Given the description of an element on the screen output the (x, y) to click on. 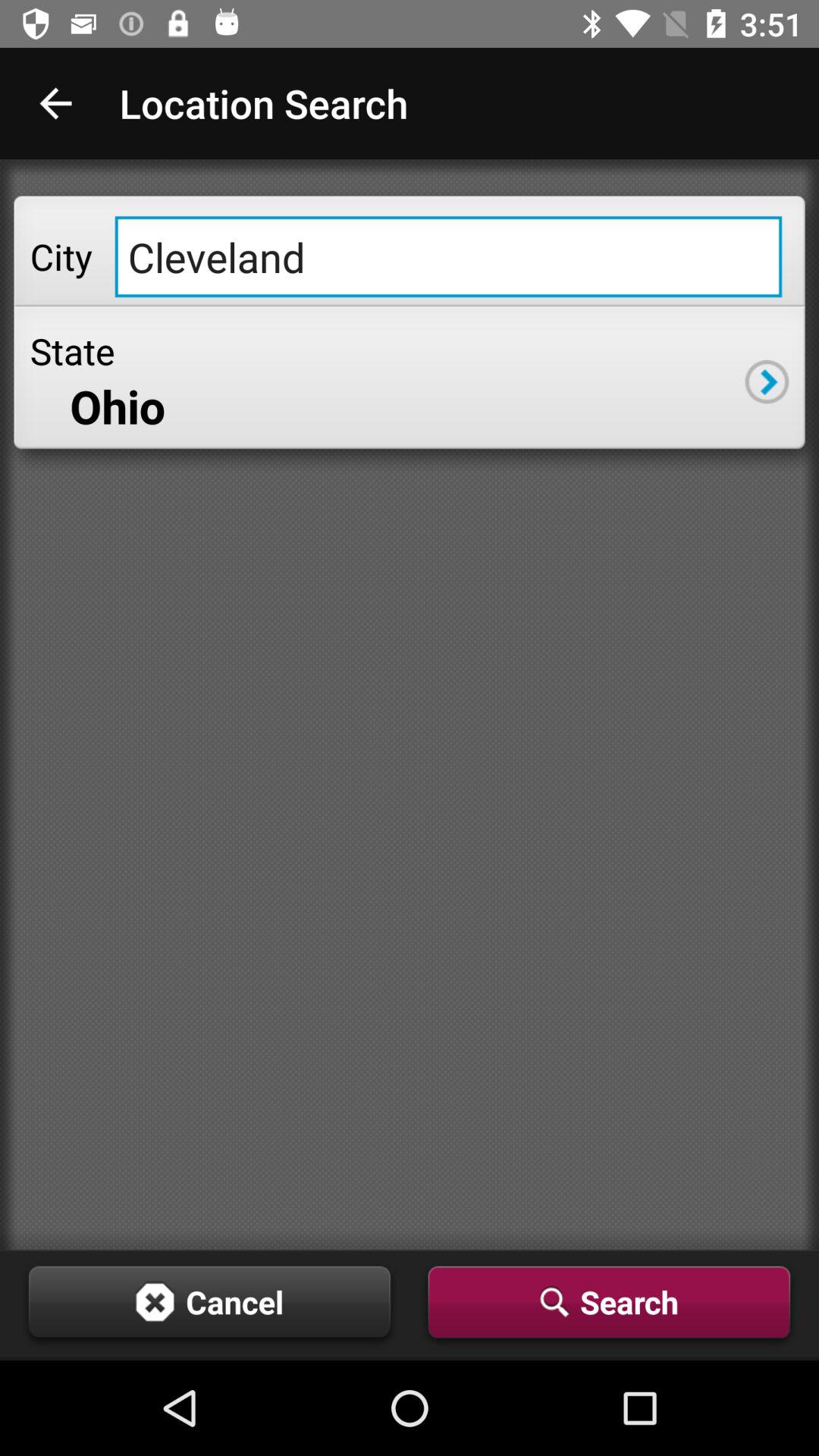
turn on cleveland (448, 256)
